Given the description of an element on the screen output the (x, y) to click on. 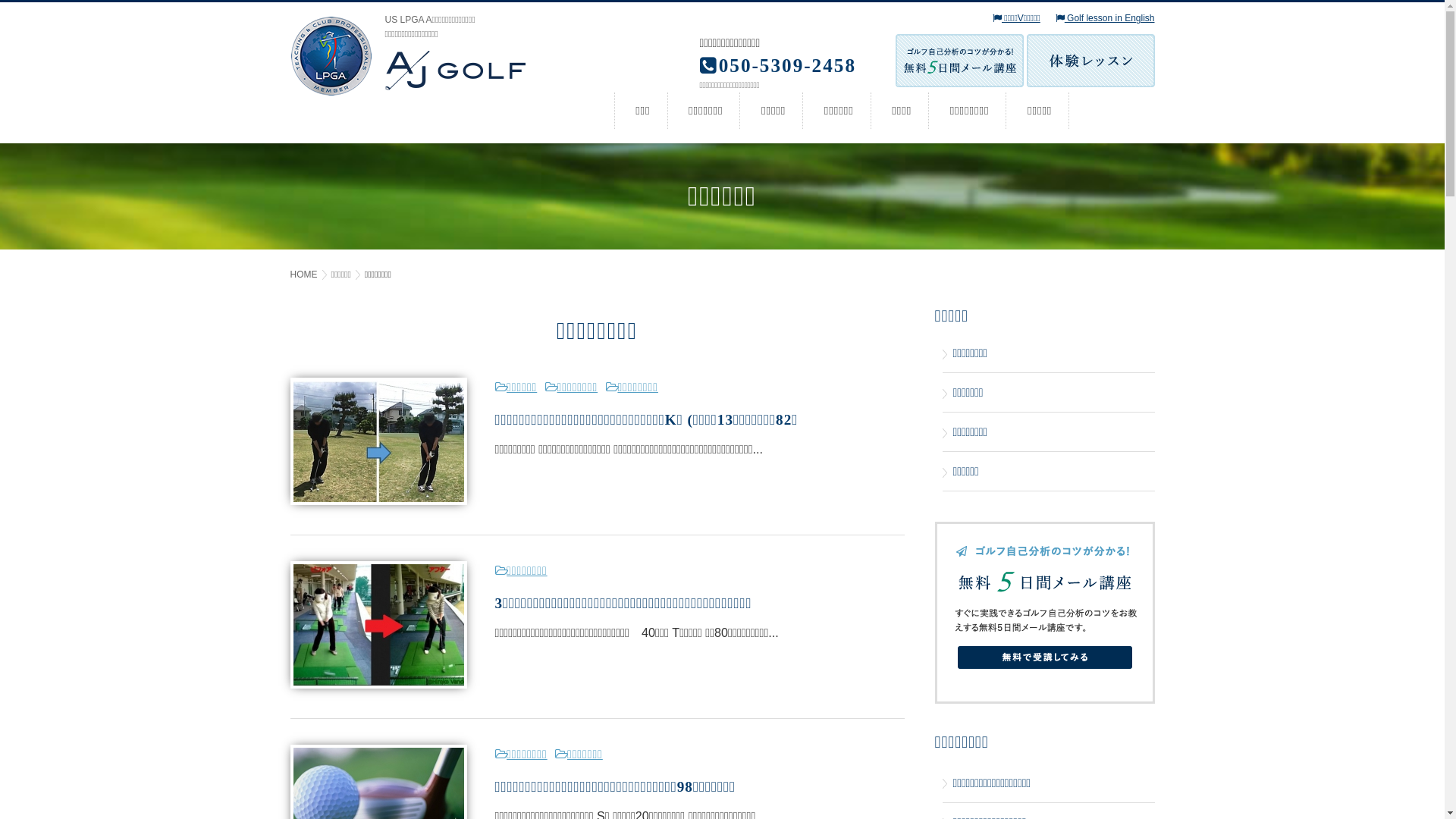
Golf lesson in English Element type: text (1104, 18)
HOME Element type: text (307, 274)
